Given the description of an element on the screen output the (x, y) to click on. 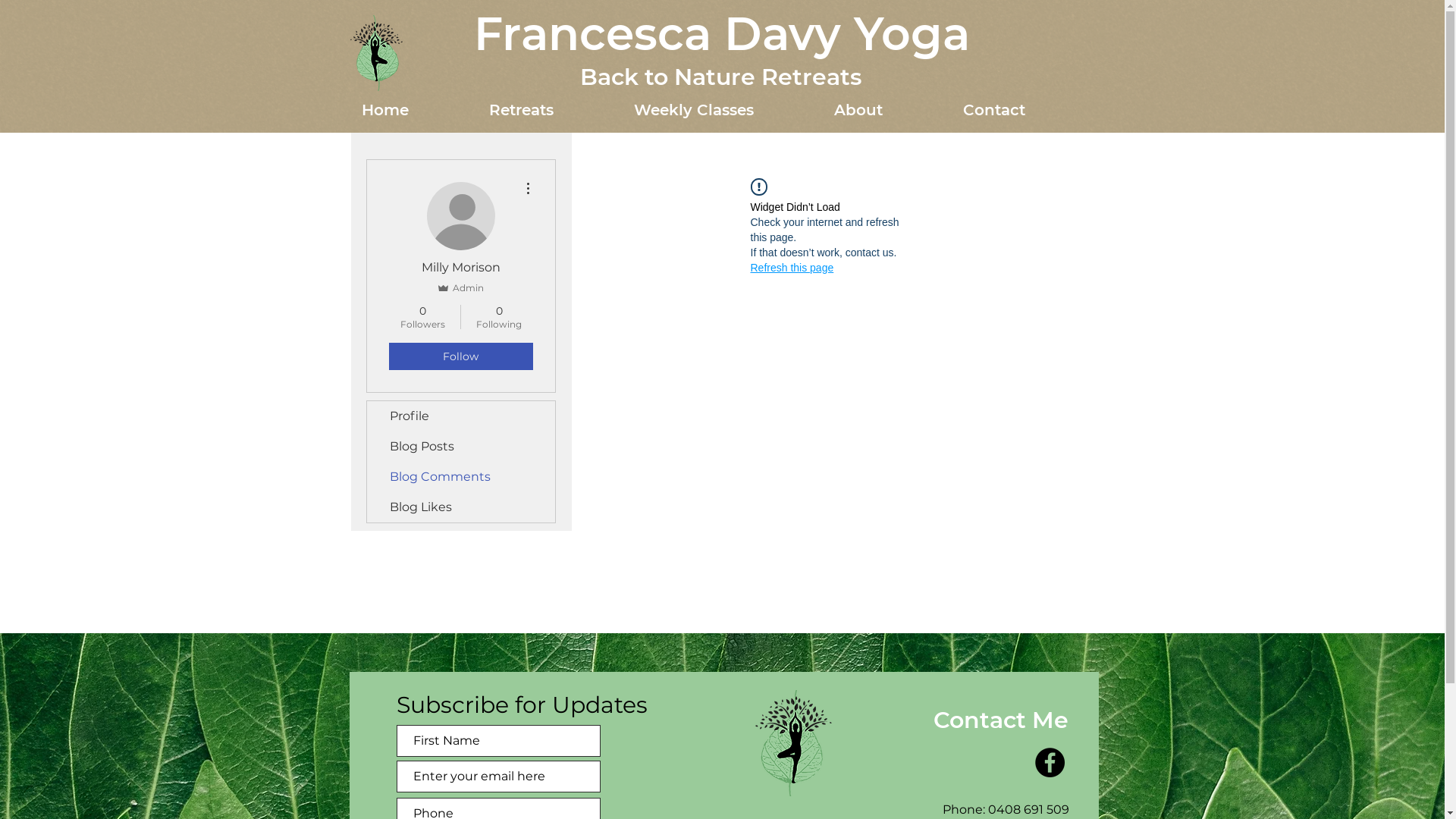
Home Element type: text (413, 109)
Refresh this page Element type: text (792, 267)
Francesca Davy Yoga Element type: text (721, 33)
0
Following Element type: text (499, 316)
Contact Element type: text (1021, 109)
Blog Comments Element type: text (461, 476)
Blog Posts Element type: text (461, 446)
About Element type: text (886, 109)
Follow Element type: text (460, 356)
Profile Element type: text (461, 416)
Blog Likes Element type: text (461, 507)
0
Followers Element type: text (421, 316)
Retreats Element type: text (549, 109)
Weekly Classes Element type: text (721, 109)
